Given the description of an element on the screen output the (x, y) to click on. 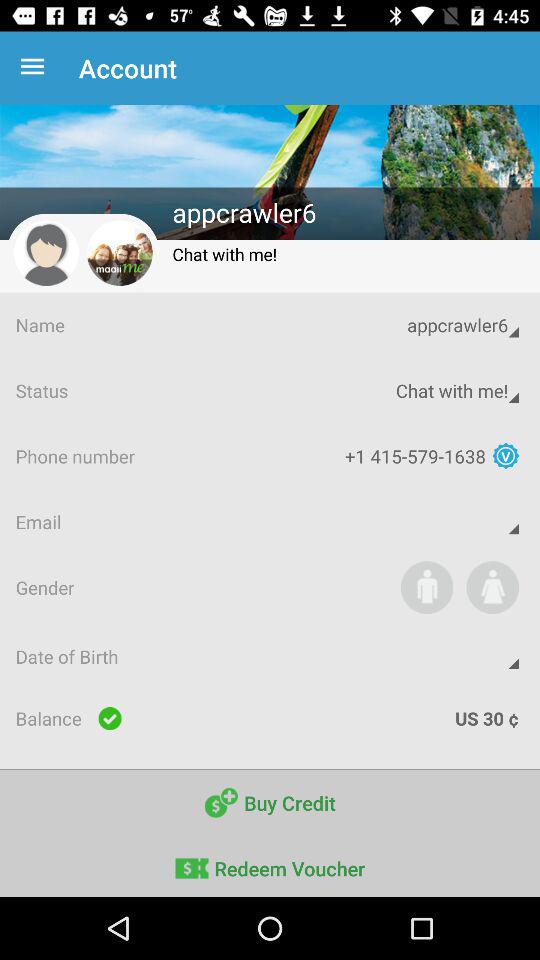
turn off the icon below the buy credit item (270, 865)
